Given the description of an element on the screen output the (x, y) to click on. 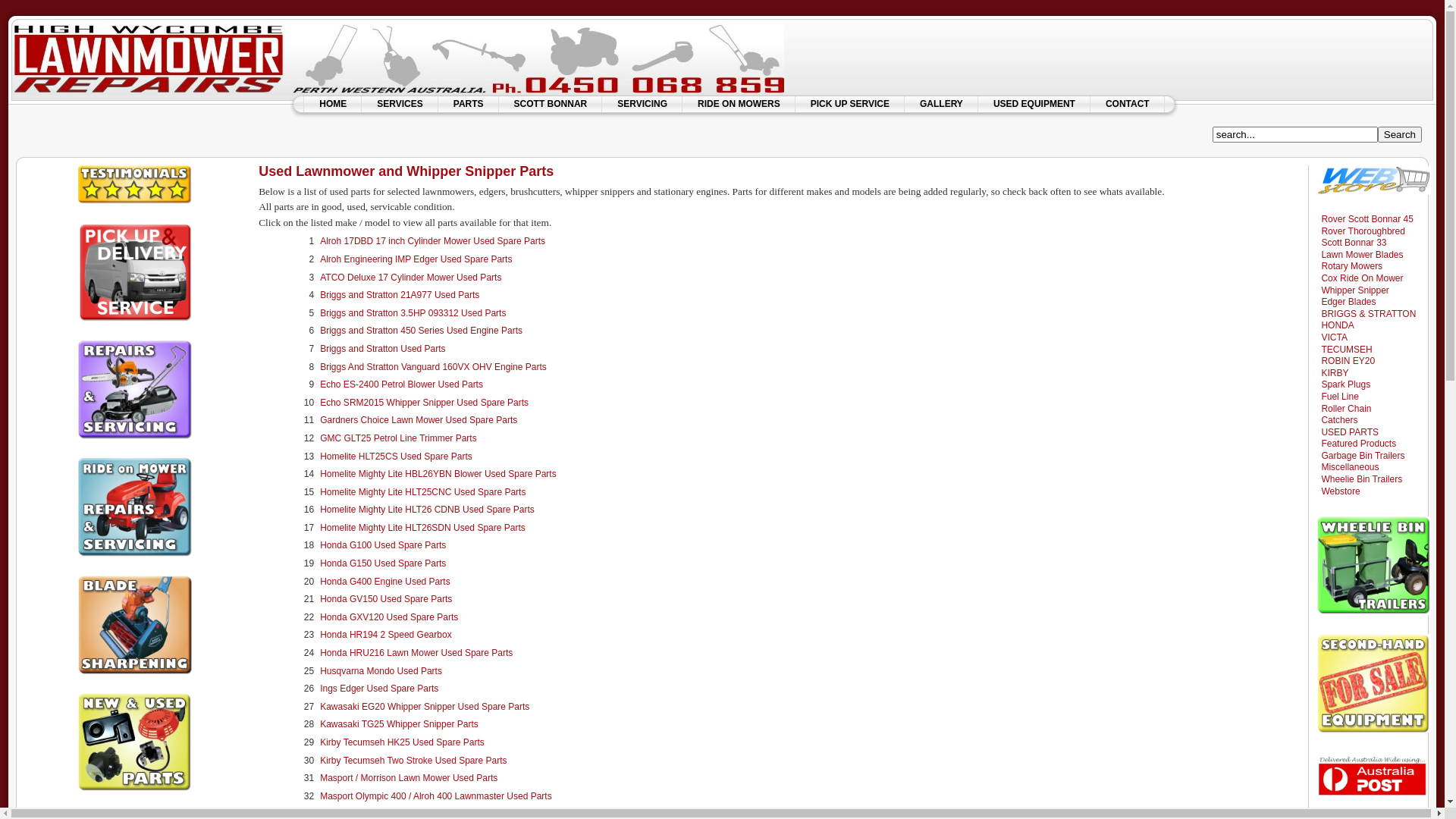
Briggs and Stratton 21A977 Used Parts Element type: text (399, 294)
Alroh Engineering IMP Edger Used Spare Parts Element type: text (415, 259)
USED EQUIPMENT Element type: text (1034, 103)
Edger Blades Element type: text (1346, 301)
USED PARTS Element type: text (1347, 431)
PARTS Element type: text (468, 103)
Featured Products Element type: text (1356, 443)
Miscellaneous Element type: text (1347, 466)
RIDE ON MOWERS Element type: text (738, 103)
Echo SRM2015 Whipper Snipper Used Spare Parts Element type: text (424, 402)
Rover Scott Bonnar 45 Element type: text (1364, 218)
Fuel Line Element type: text (1337, 396)
Lawn Mower Blades Element type: text (1359, 254)
Echo ES-2400 Petrol Blower Used Parts Element type: text (401, 384)
Whipper Snipper Element type: text (1352, 290)
VICTA Element type: text (1331, 337)
Scott Bonnar 33 Element type: text (1351, 242)
KIRBY Element type: text (1332, 372)
Catchers Element type: text (1337, 419)
Honda HRU216 Lawn Mower Used Spare Parts Element type: text (416, 652)
SCOTT BONNAR Element type: text (550, 103)
GALLERY Element type: text (941, 103)
Husqvarna Mondo Used Parts Element type: text (381, 670)
Briggs And Stratton Vanguard 160VX OHV Engine Parts Element type: text (433, 366)
Homelite Mighty Lite HBL26YBN Blower Used Spare Parts Element type: text (437, 473)
Webstore Element type: text (1338, 491)
Honda G400 Engine Used Parts Element type: text (384, 581)
Honda G100 Used Spare Parts Element type: text (382, 544)
PICK UP SERVICE Element type: text (849, 103)
Masport / Morrison Lawn Mower Used Parts Element type: text (408, 777)
Briggs and Stratton 3.5HP 093312 Used Parts Element type: text (412, 312)
Homelite Mighty Lite HLT26 CDNB Used Spare Parts Element type: text (427, 509)
Rover Thoroughbred Element type: text (1361, 230)
Kawasaki EG20 Whipper Snipper Used Spare Parts Element type: text (424, 706)
TECUMSEH Element type: text (1344, 349)
HOME Element type: text (332, 103)
Honda GV150 Used Spare Parts Element type: text (385, 598)
Cox Ride On Mower Element type: text (1359, 278)
Kirby Tecumseh Two Stroke Used Spare Parts Element type: text (413, 760)
CONTACT Element type: text (1127, 103)
Roller Chain Element type: text (1344, 408)
Rotary Mowers Element type: text (1349, 265)
Wheelie Bin Trailers Element type: text (1359, 478)
ATCO Deluxe 17 Cylinder Mower Used Parts Element type: text (410, 277)
Briggs and Stratton Used Parts Element type: text (382, 348)
Homelite Mighty Lite HLT25CNC Used Spare Parts Element type: text (422, 491)
Masport Olympic 400 / Alroh 400 Lawnmaster Used Parts Element type: text (435, 795)
Alroh 17DBD 17 inch Cylinder Mower Used Spare Parts Element type: text (432, 240)
Spark Plugs Element type: text (1343, 384)
Ings Edger Used Spare Parts Element type: text (379, 688)
Honda G150 Used Spare Parts Element type: text (382, 563)
Garbage Bin Trailers Element type: text (1360, 455)
Honda HR194 2 Speed Gearbox Element type: text (385, 634)
Kirby Tecumseh HK25 Used Spare Parts Element type: text (402, 742)
GMC GLT25 Petrol Line Trimmer Parts Element type: text (398, 438)
BRIGGS & STRATTON Element type: text (1366, 313)
ROBIN EY20 Element type: text (1345, 360)
Homelite Mighty Lite HLT26SDN Used Spare Parts Element type: text (422, 527)
Homelite HLT25CS Used Spare Parts Element type: text (396, 455)
SERVICING Element type: text (642, 103)
SERVICES Element type: text (399, 103)
Gardners Choice Lawn Mower Used Spare Parts Element type: text (418, 419)
Kawasaki TG25 Whipper Snipper Parts Element type: text (399, 723)
Honda GXV120 Used Spare Parts Element type: text (389, 616)
Search Element type: text (1399, 134)
Briggs and Stratton 450 Series Used Engine Parts Element type: text (421, 330)
HONDA Element type: text (1335, 325)
